Given the description of an element on the screen output the (x, y) to click on. 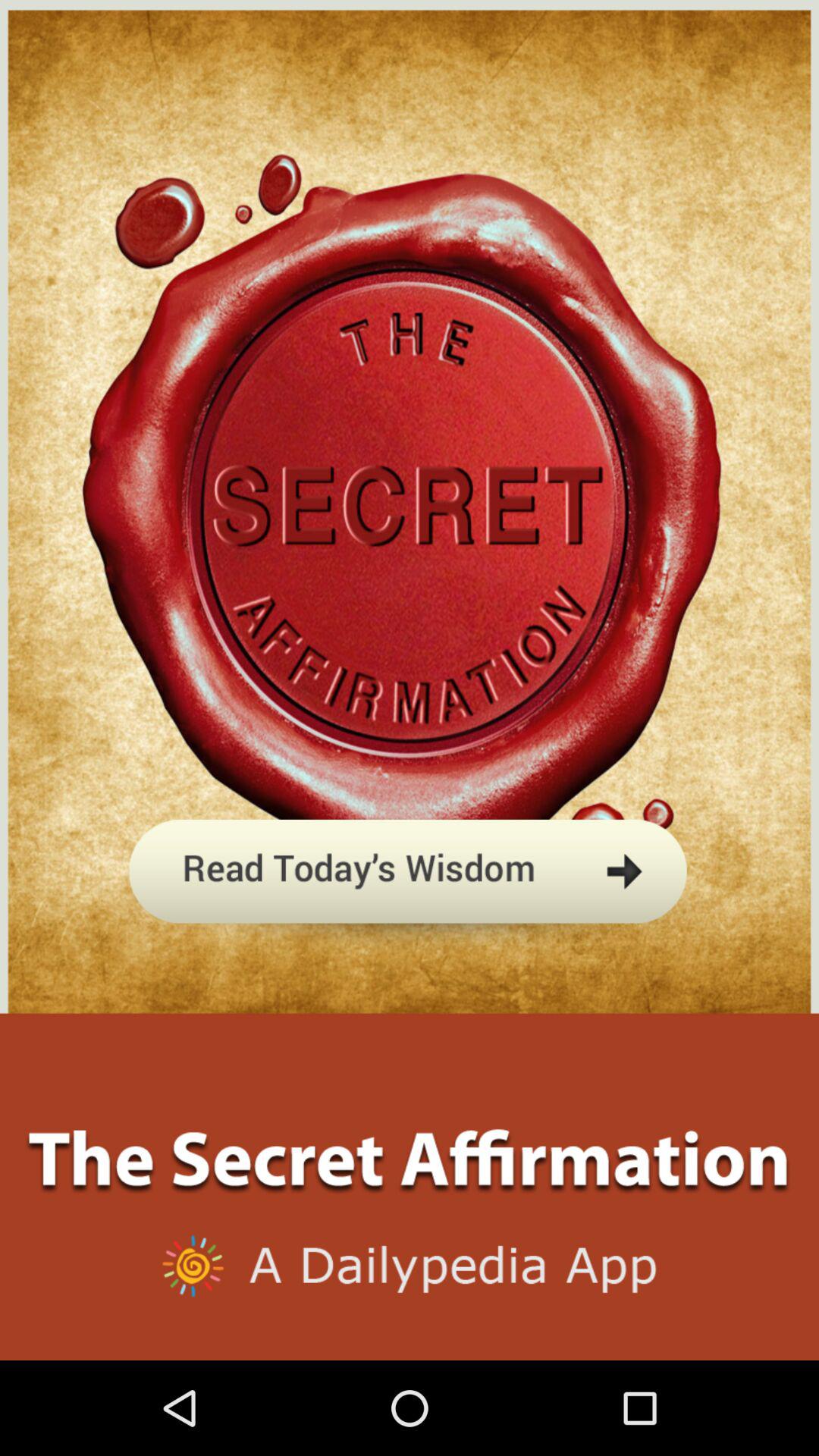
let go to read (408, 943)
